Given the description of an element on the screen output the (x, y) to click on. 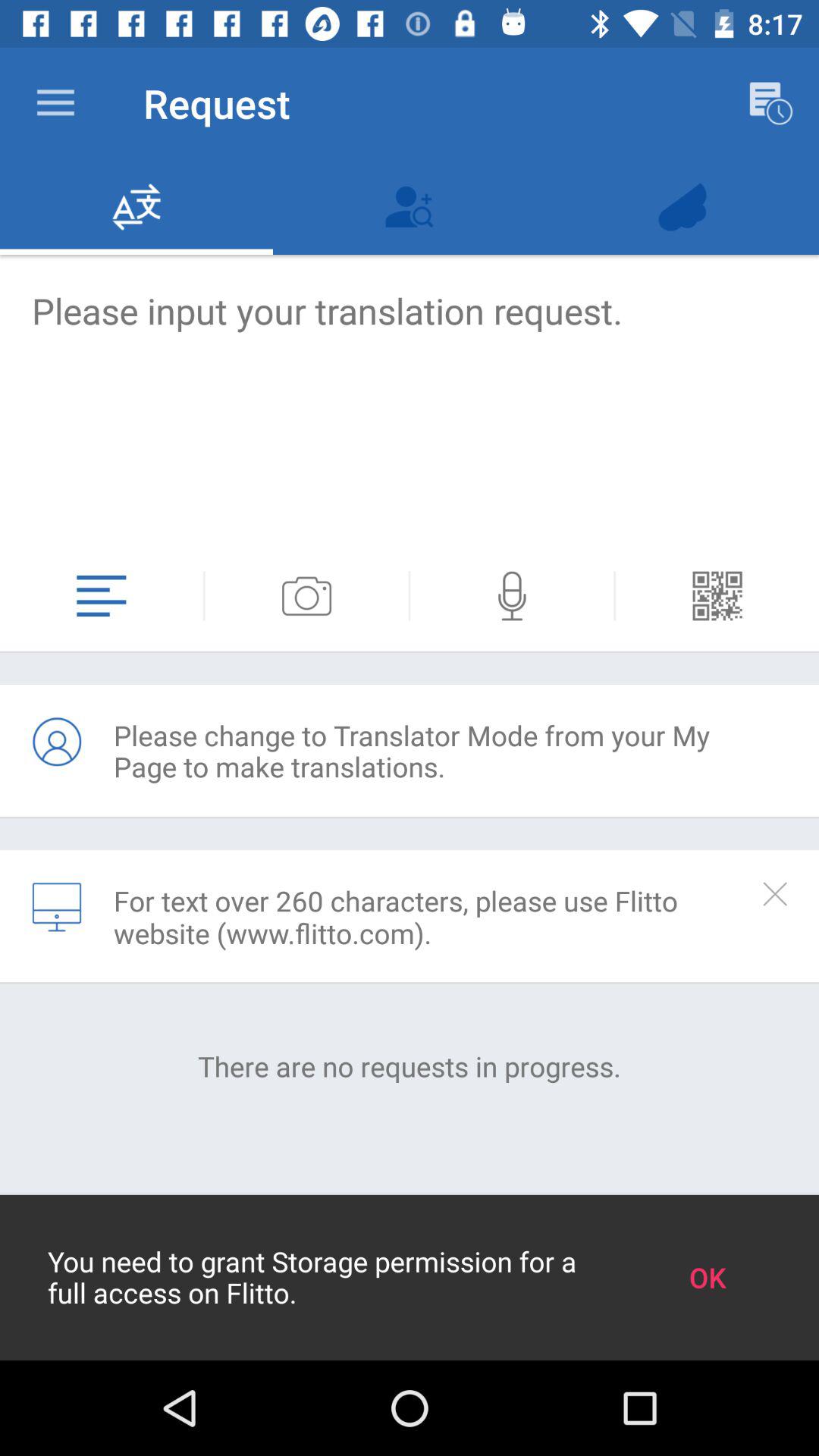
scroll until the for text over icon (430, 917)
